Given the description of an element on the screen output the (x, y) to click on. 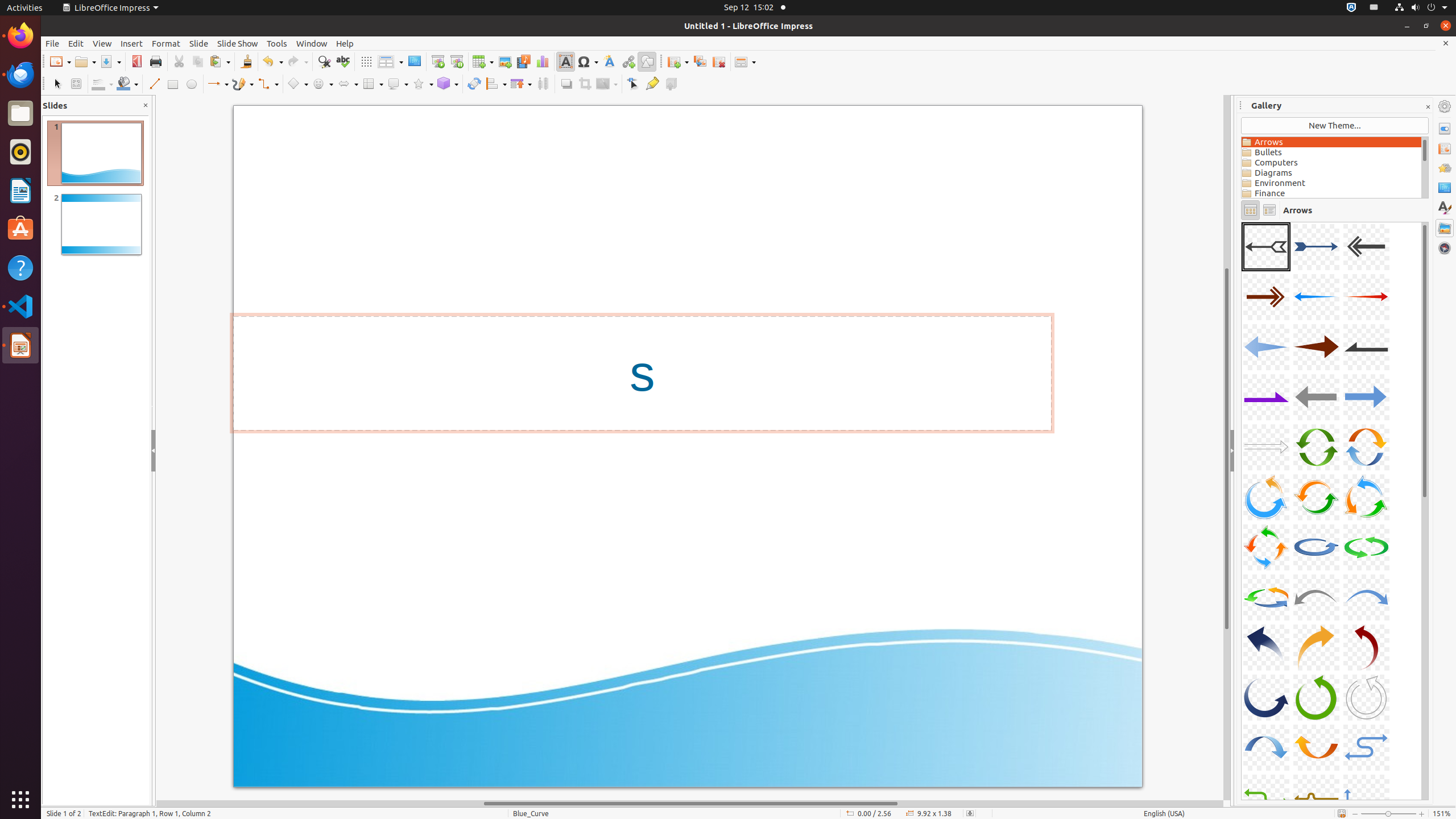
A11-Arrow-Gray-Left Element type: list-item (1315, 396)
Flowchart Shapes Element type: push-button (372, 83)
A15-CircleArrow Element type: list-item (1365, 446)
Select Element type: push-button (56, 83)
Start from First Slide Element type: push-button (437, 61)
